Given the description of an element on the screen output the (x, y) to click on. 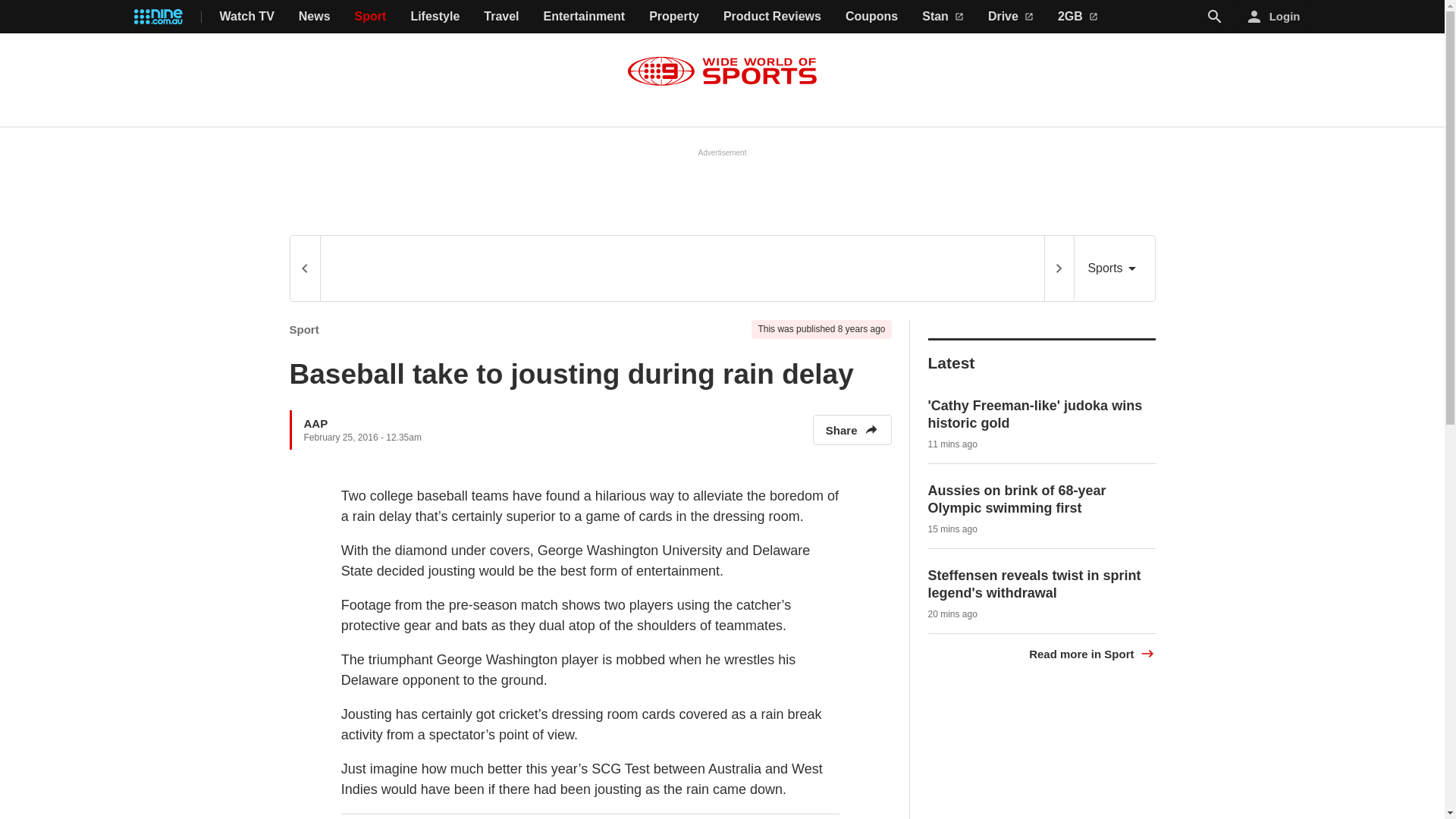
Lifestyle (435, 16)
Read more in Sport (1091, 653)
News (314, 16)
Sport (371, 16)
Aussies on brink of 68-year Olympic swimming first (1017, 499)
Search (1214, 16)
Stan (942, 16)
Drive (1010, 16)
Travel (500, 16)
Sports (1114, 268)
Sport (303, 328)
Search (1214, 16)
Property (673, 16)
'Cathy Freeman-like' judoka wins historic gold (1035, 414)
Product Reviews (772, 16)
